Given the description of an element on the screen output the (x, y) to click on. 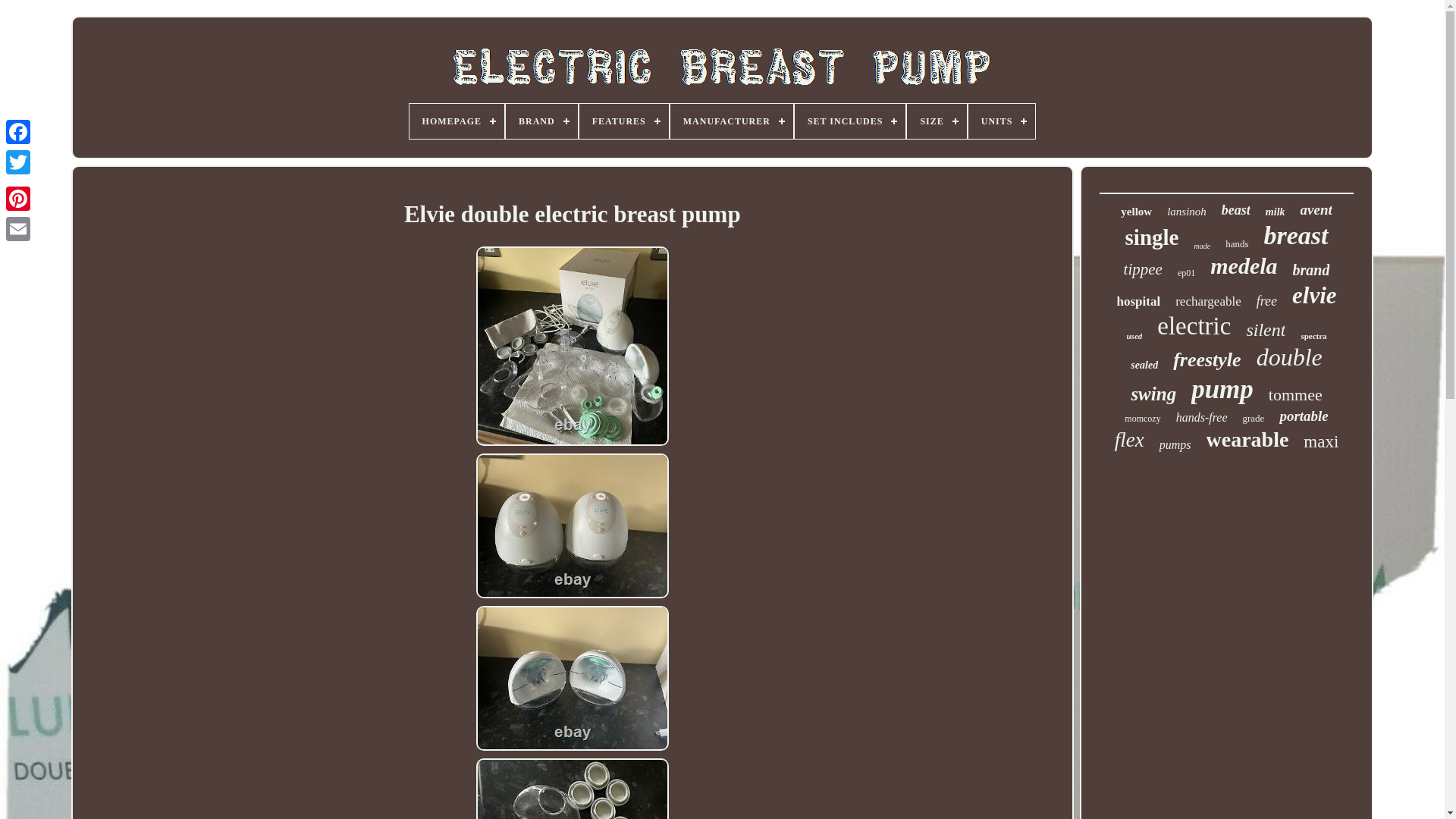
Elvie double electric breast pump (572, 525)
BRAND (541, 121)
Pinterest (17, 198)
FEATURES (623, 121)
Elvie double electric breast pump (572, 345)
HOMEPAGE (456, 121)
Elvie double electric breast pump (572, 788)
Elvie double electric breast pump (572, 678)
